Given the description of an element on the screen output the (x, y) to click on. 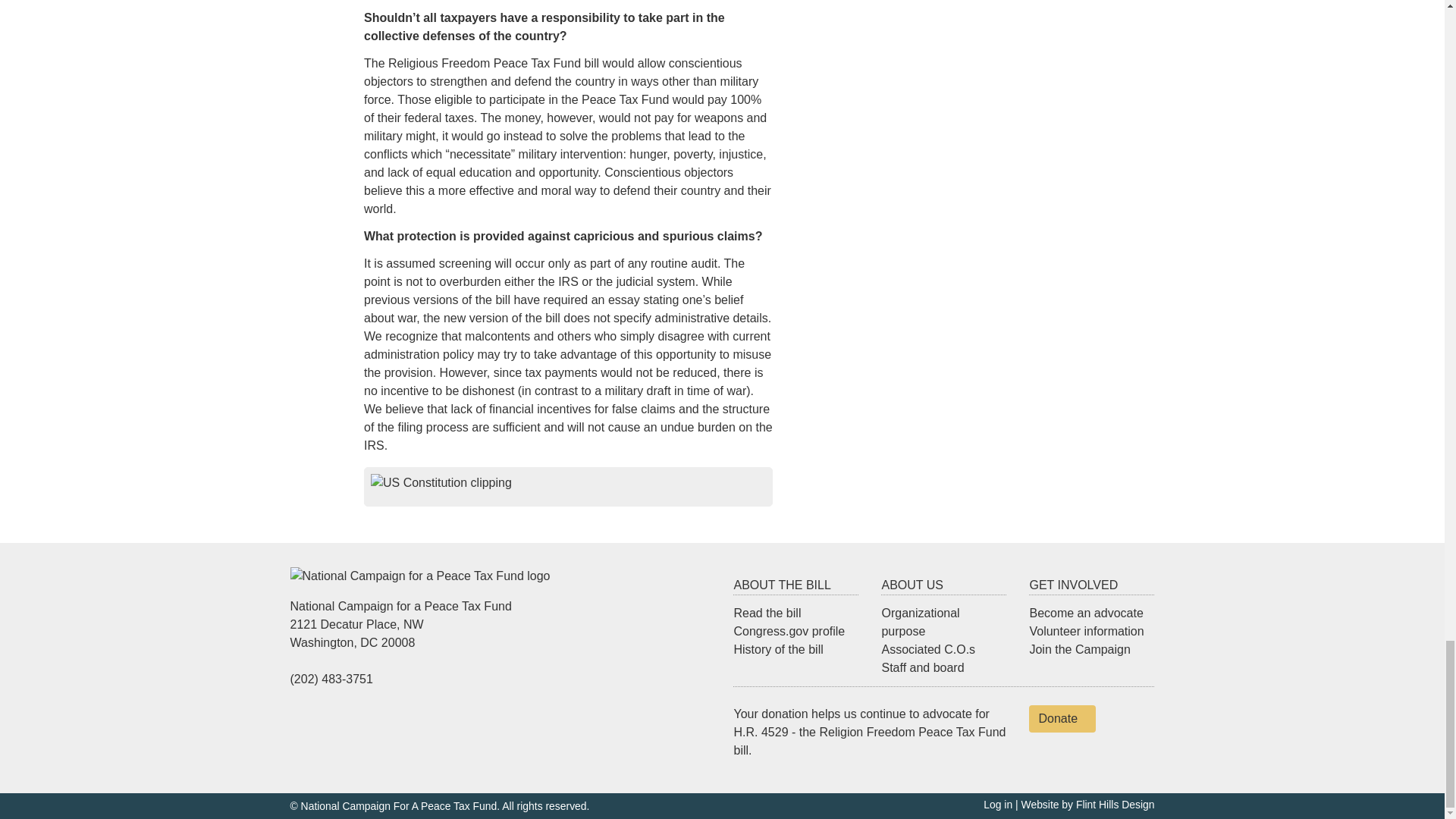
Read the bill (766, 612)
Become an advocate (1085, 612)
Volunteer information (1085, 631)
Associated C.O.s (927, 649)
History of the bill (777, 649)
Donate (1062, 718)
Flint Hills Design (1114, 804)
Join the Campaign (1079, 649)
Log in (997, 804)
Staff and board (921, 667)
